Given the description of an element on the screen output the (x, y) to click on. 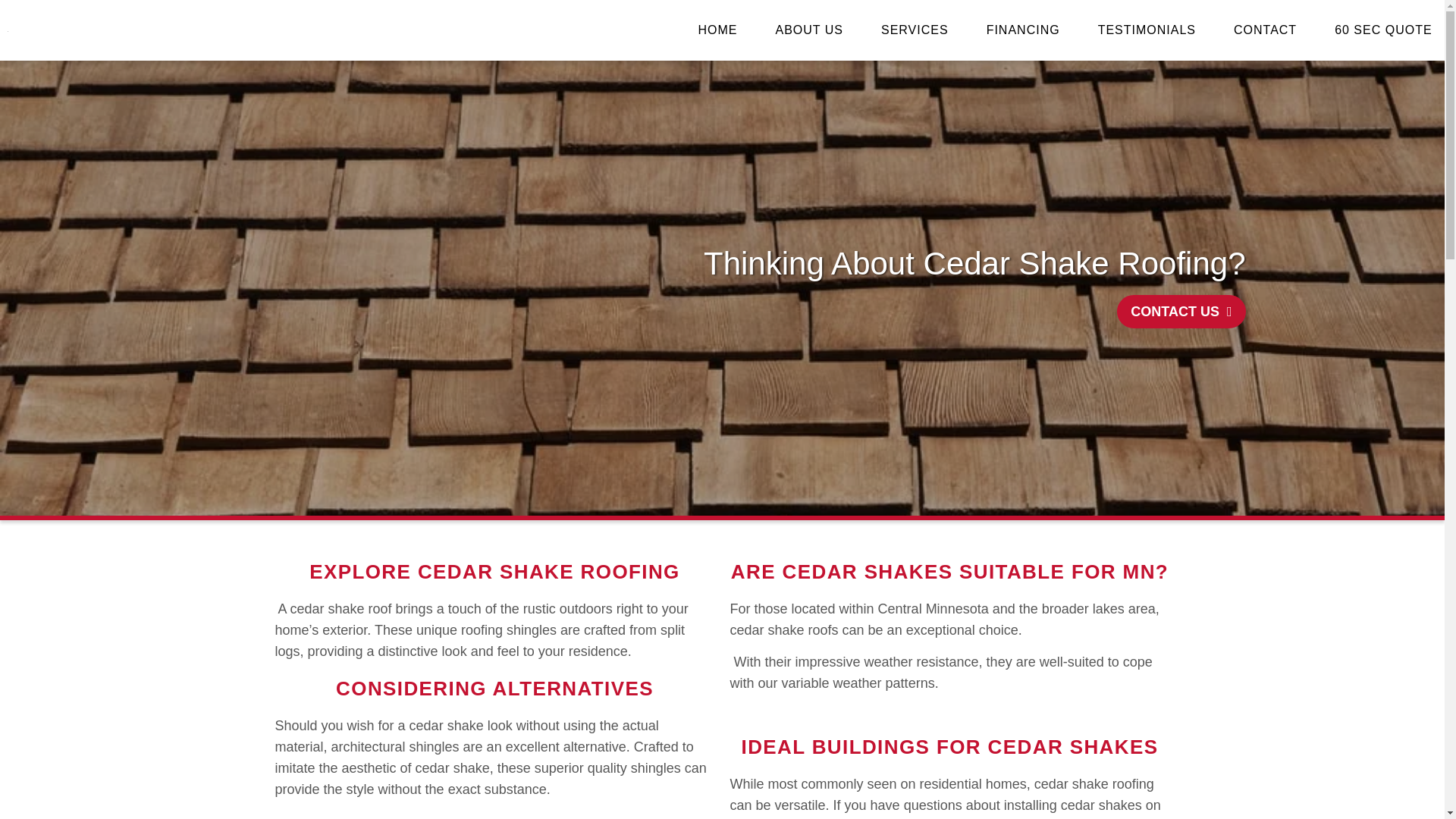
60 SEC QUOTE (1383, 30)
TESTIMONIALS (1146, 30)
ABOUT US (808, 30)
SERVICES (914, 30)
HOME (716, 30)
FINANCING (1023, 30)
CONTACT (1265, 30)
